Given the description of an element on the screen output the (x, y) to click on. 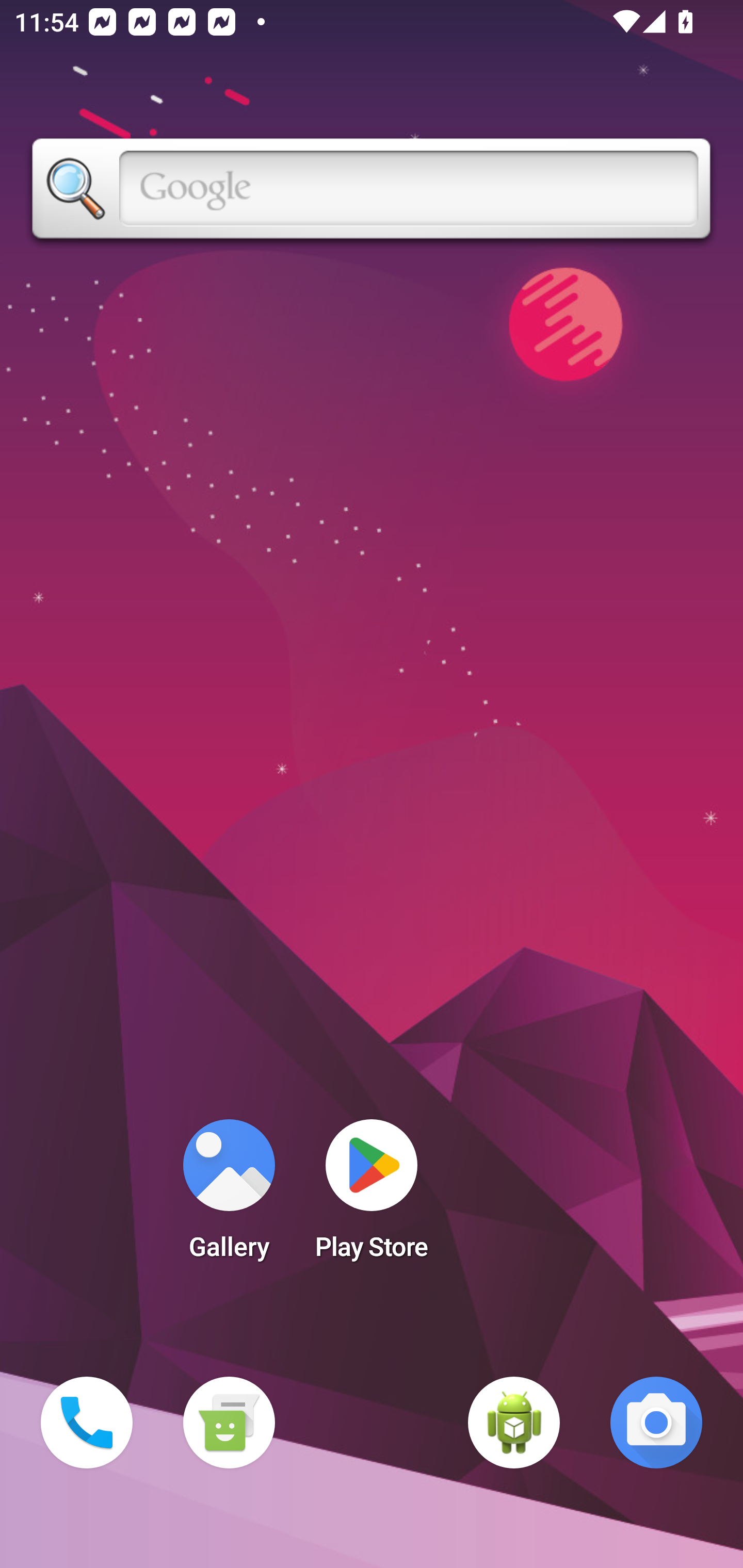
Gallery (228, 1195)
Play Store (371, 1195)
Phone (86, 1422)
Messaging (228, 1422)
WebView Browser Tester (513, 1422)
Camera (656, 1422)
